Given the description of an element on the screen output the (x, y) to click on. 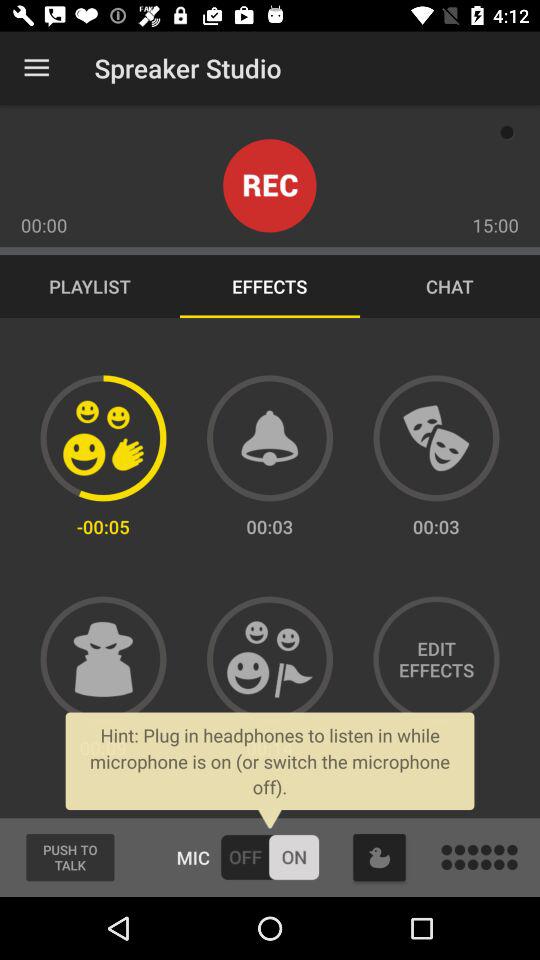
applause (103, 438)
